Given the description of an element on the screen output the (x, y) to click on. 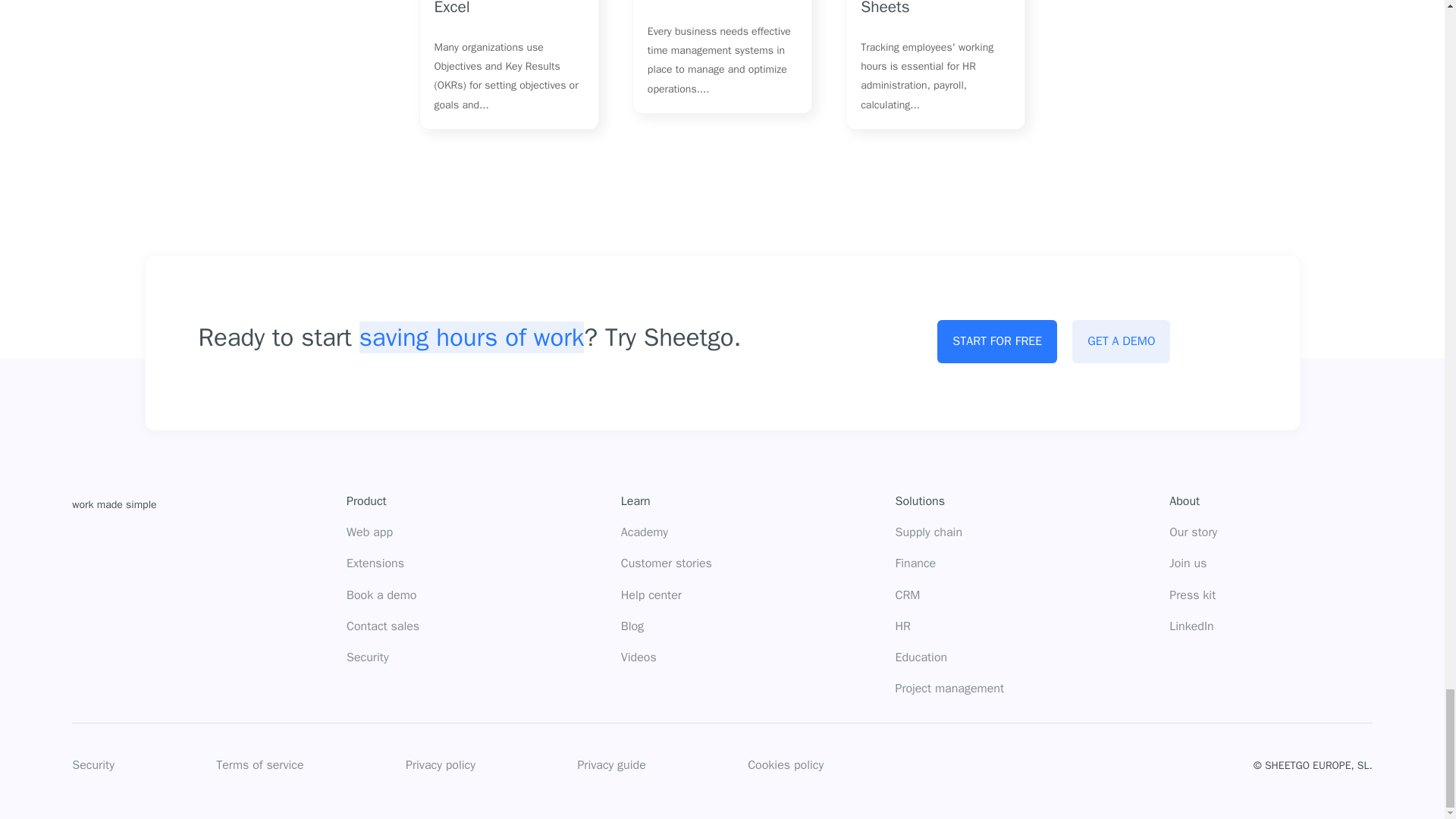
Book a demo (381, 595)
Web app (369, 532)
GET A DEMO (1120, 341)
OKR tracking template in Microsoft Excel (506, 8)
Extensions (375, 563)
Employee timesheet template in Google Sheets (930, 8)
Contact sales (382, 626)
START FOR FREE (997, 341)
